Given the description of an element on the screen output the (x, y) to click on. 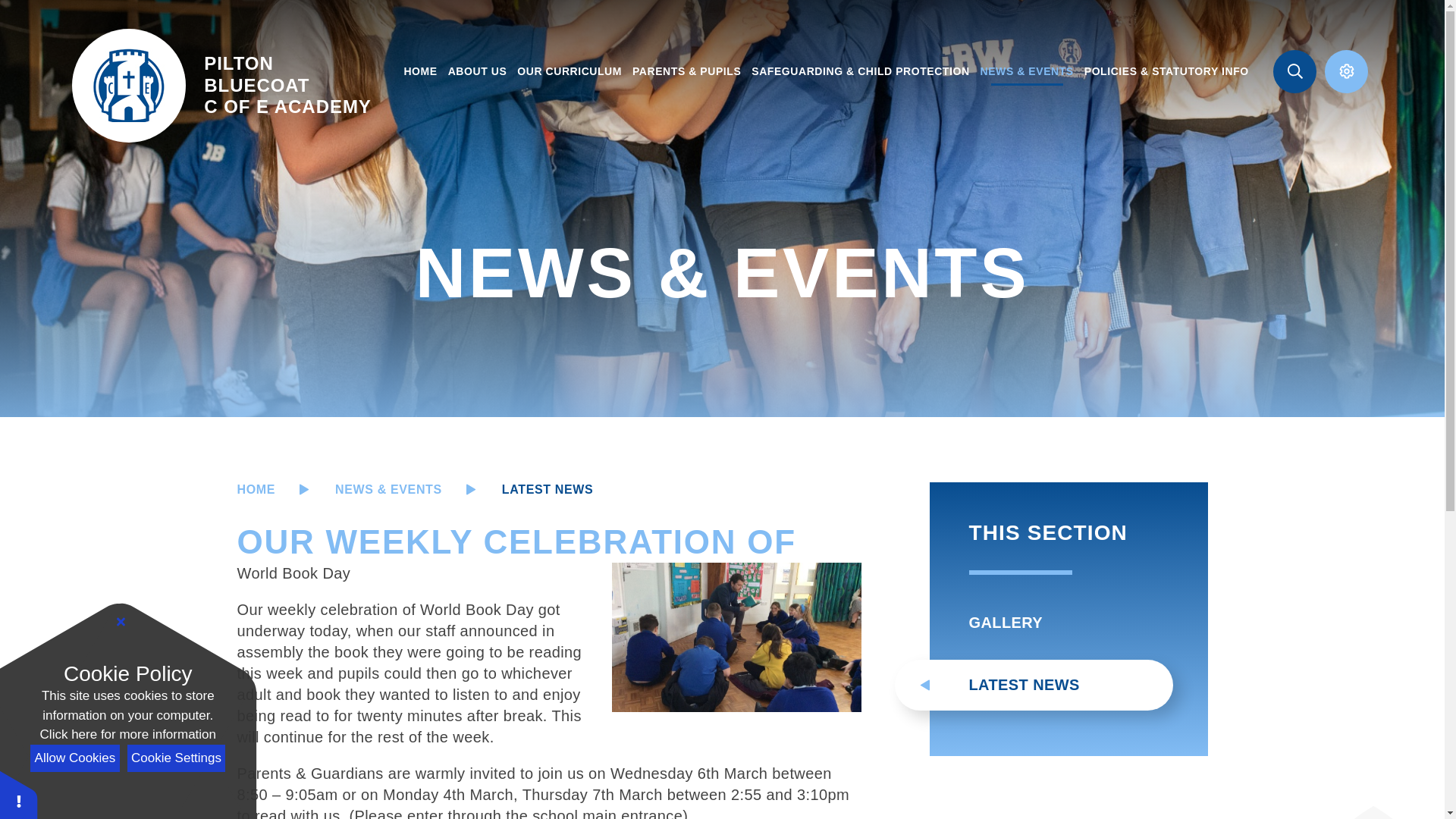
Allow Cookies (74, 758)
ABOUT US (477, 70)
Cookie Settings (221, 85)
HOME (176, 758)
See cookie policy (419, 70)
OUR CURRICULUM (127, 734)
